Given the description of an element on the screen output the (x, y) to click on. 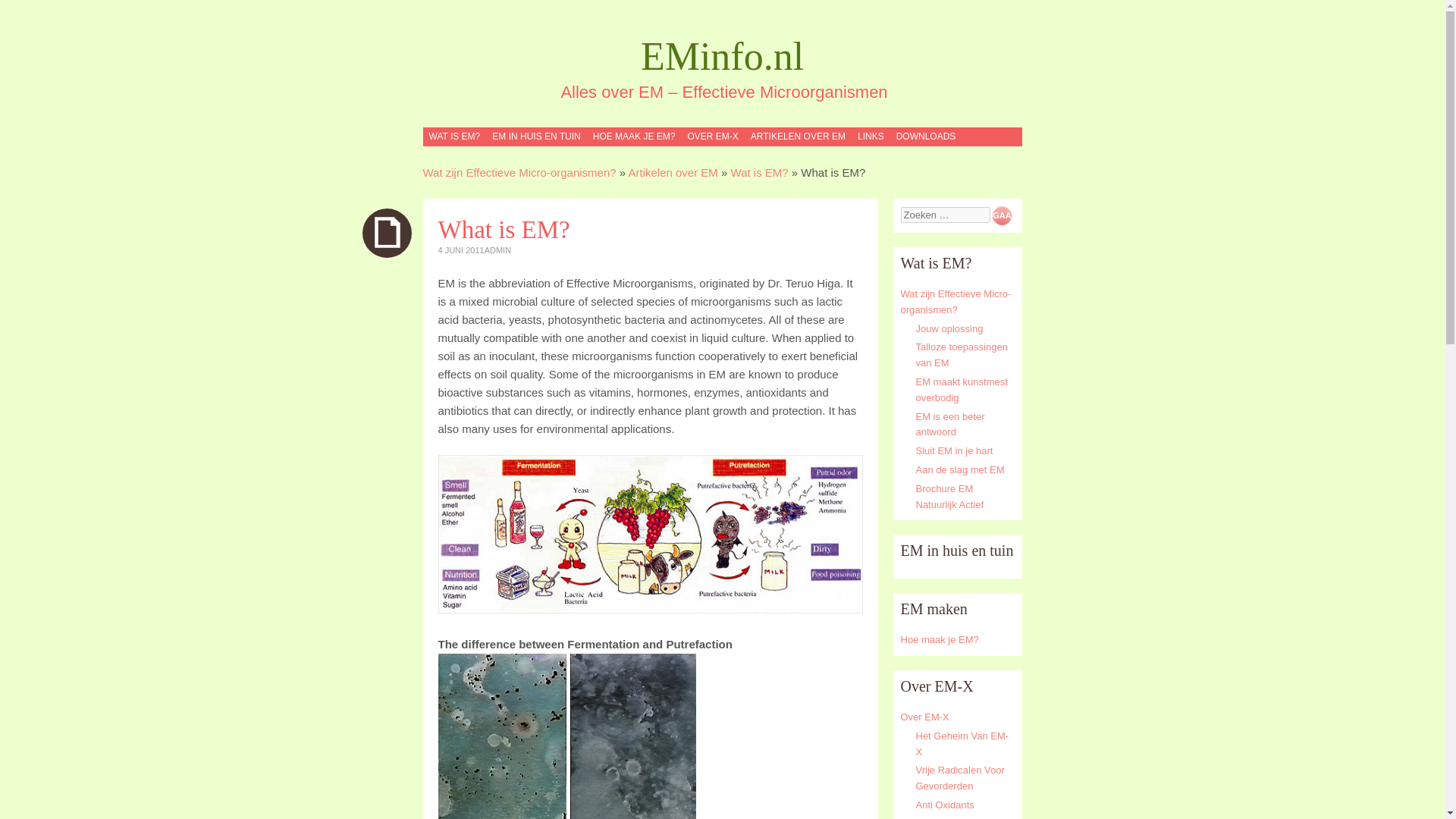
EMinfo.nl (721, 56)
WAT IS EM? (454, 136)
4 JUNI 2011 (461, 249)
Gaan (1001, 215)
11:31 (461, 249)
EM IN HUIS EN TUIN (535, 136)
Toon alle berichten van admin (497, 249)
LINKS (870, 136)
Naar de inhoud springen (492, 136)
OVER EM-X (711, 136)
ARTIKELEN OVER EM (797, 136)
EMinfo.nl (721, 56)
HOE MAAK JE EM? (634, 136)
NAAR DE INHOUD SPRINGEN (492, 136)
Wat is EM? (759, 172)
